Given the description of an element on the screen output the (x, y) to click on. 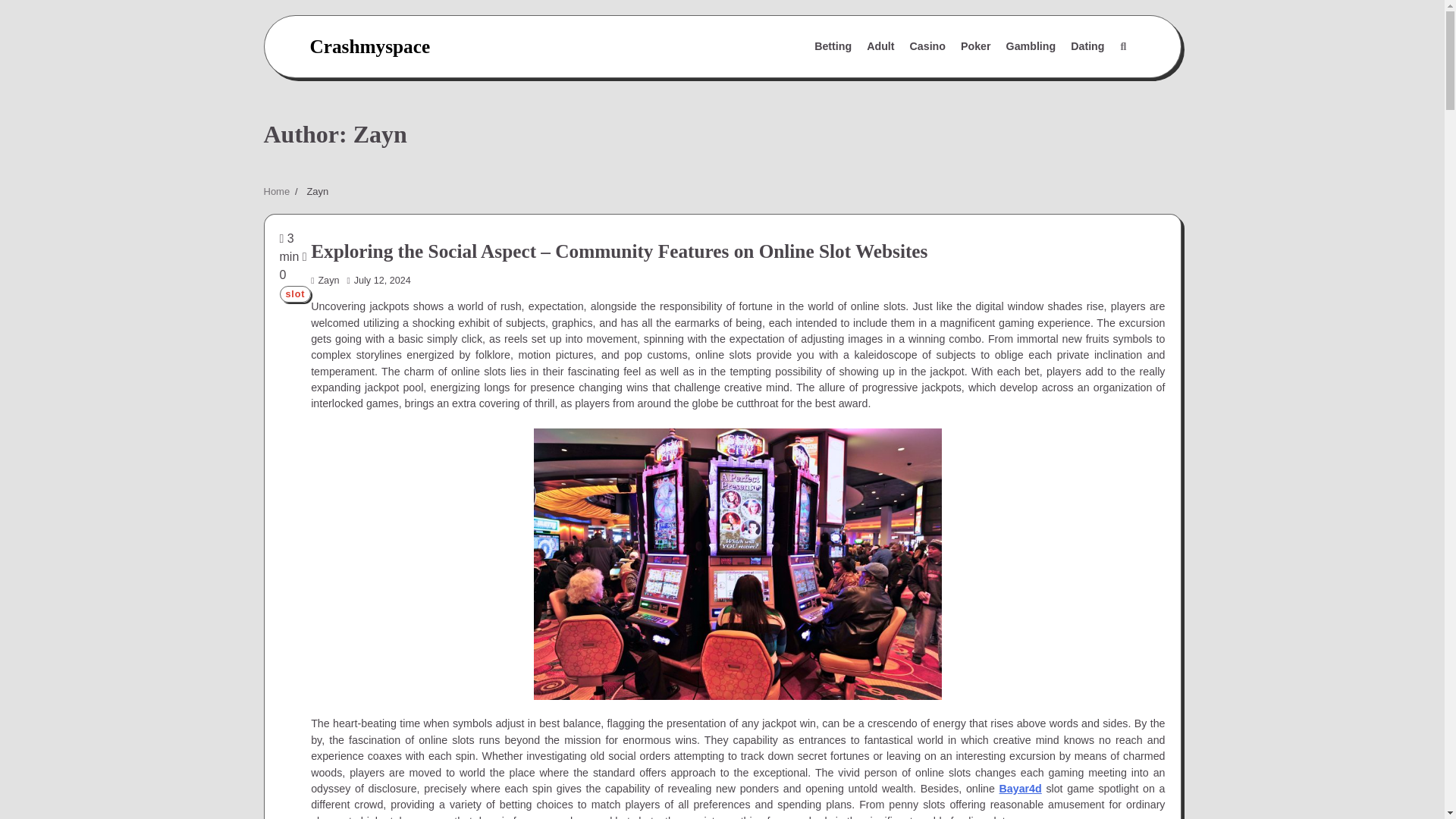
slot (295, 293)
Dating (1087, 46)
Search (1123, 47)
Poker (975, 46)
Search (1086, 83)
Crashmyspace (368, 46)
Adult (880, 46)
Gambling (1031, 46)
Zayn (325, 280)
Home (276, 191)
Betting (832, 46)
Casino (927, 46)
Bayar4d (1020, 788)
